Given the description of an element on the screen output the (x, y) to click on. 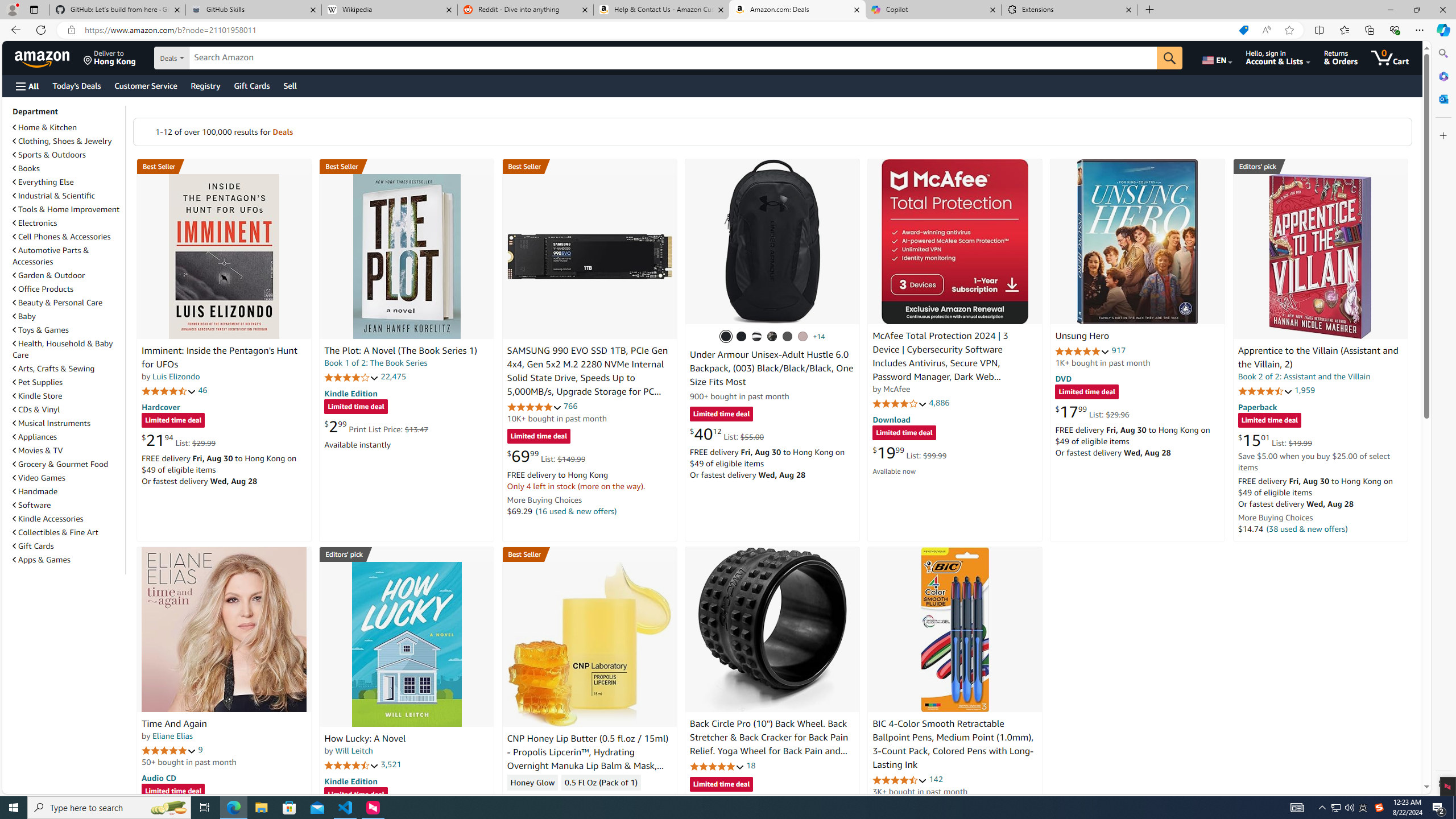
Home & Kitchen (45, 127)
$40.12 List: $55.00 (726, 433)
Apps & Games (41, 559)
Deliver to Hong Kong (109, 57)
Toys & Games (67, 329)
Apprentice to the Villain (Assistant and the Villain, 2) (1318, 358)
Automotive Parts & Accessories (50, 255)
$17.99 List: $29.96 (1092, 411)
Side bar (1443, 418)
4.8 out of 5 stars (716, 766)
